Given the description of an element on the screen output the (x, y) to click on. 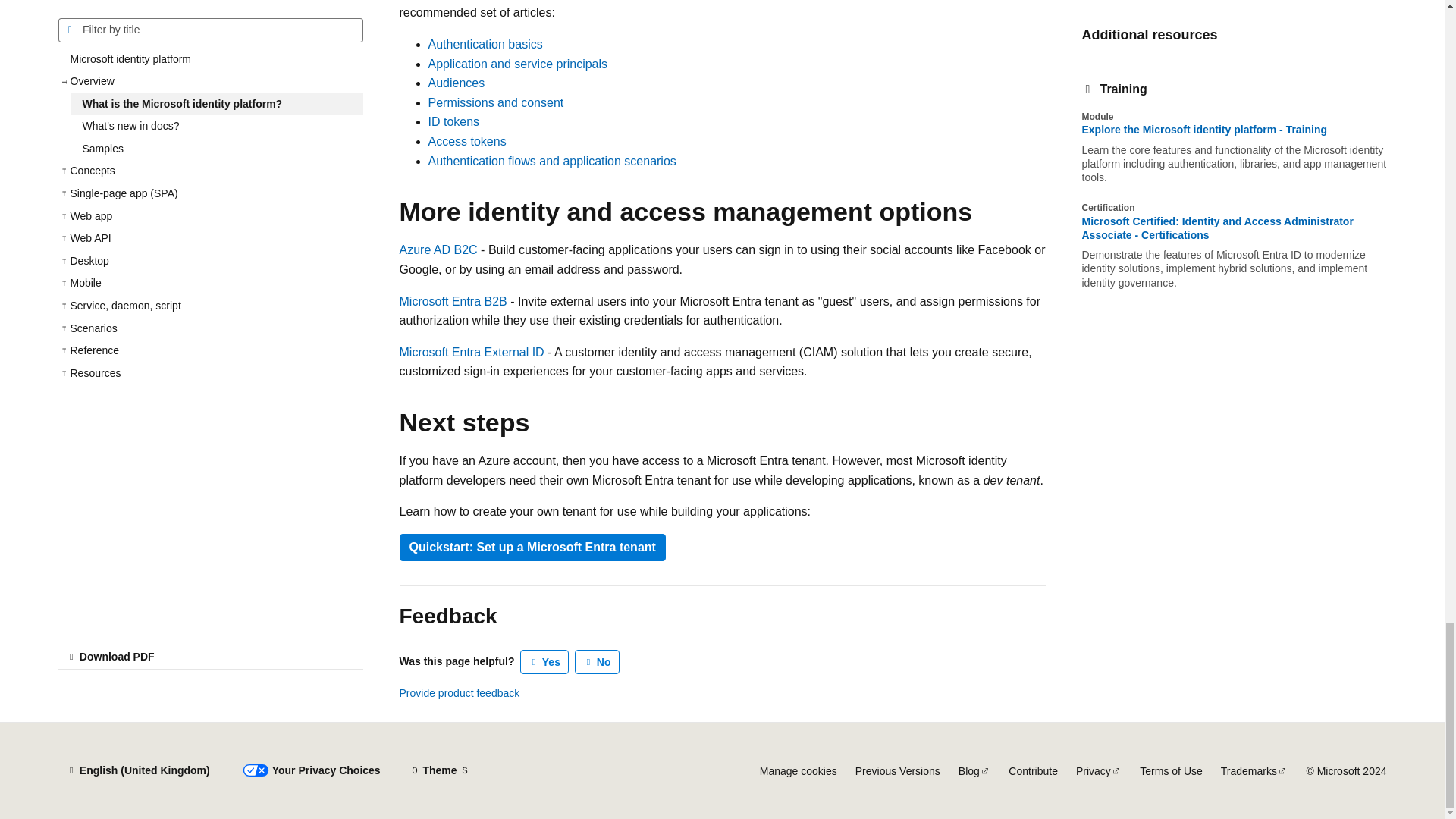
This article is helpful (544, 662)
This article is not helpful (597, 662)
Theme (440, 770)
